Given the description of an element on the screen output the (x, y) to click on. 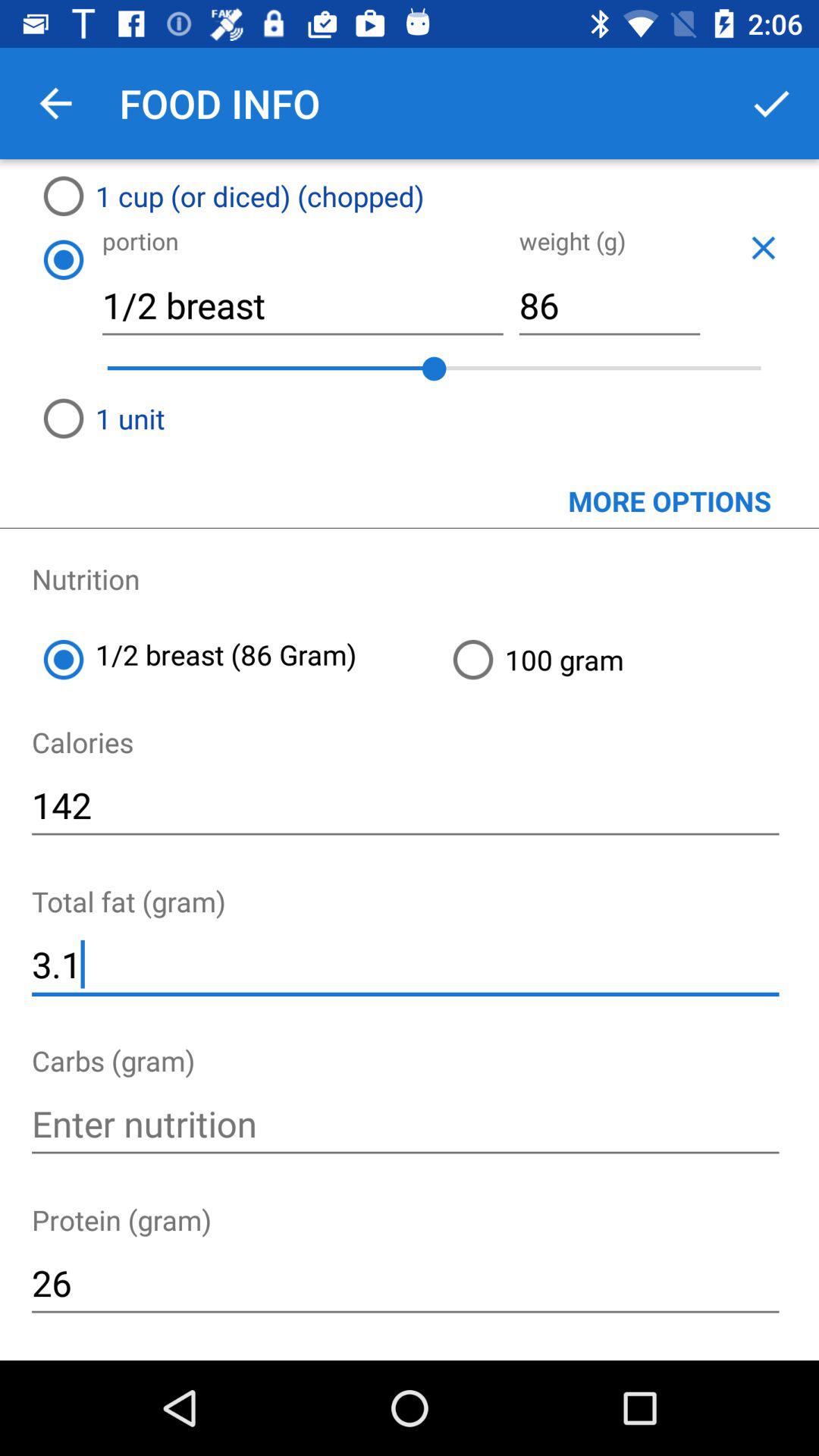
launch the 100 gram item (630, 659)
